Given the description of an element on the screen output the (x, y) to click on. 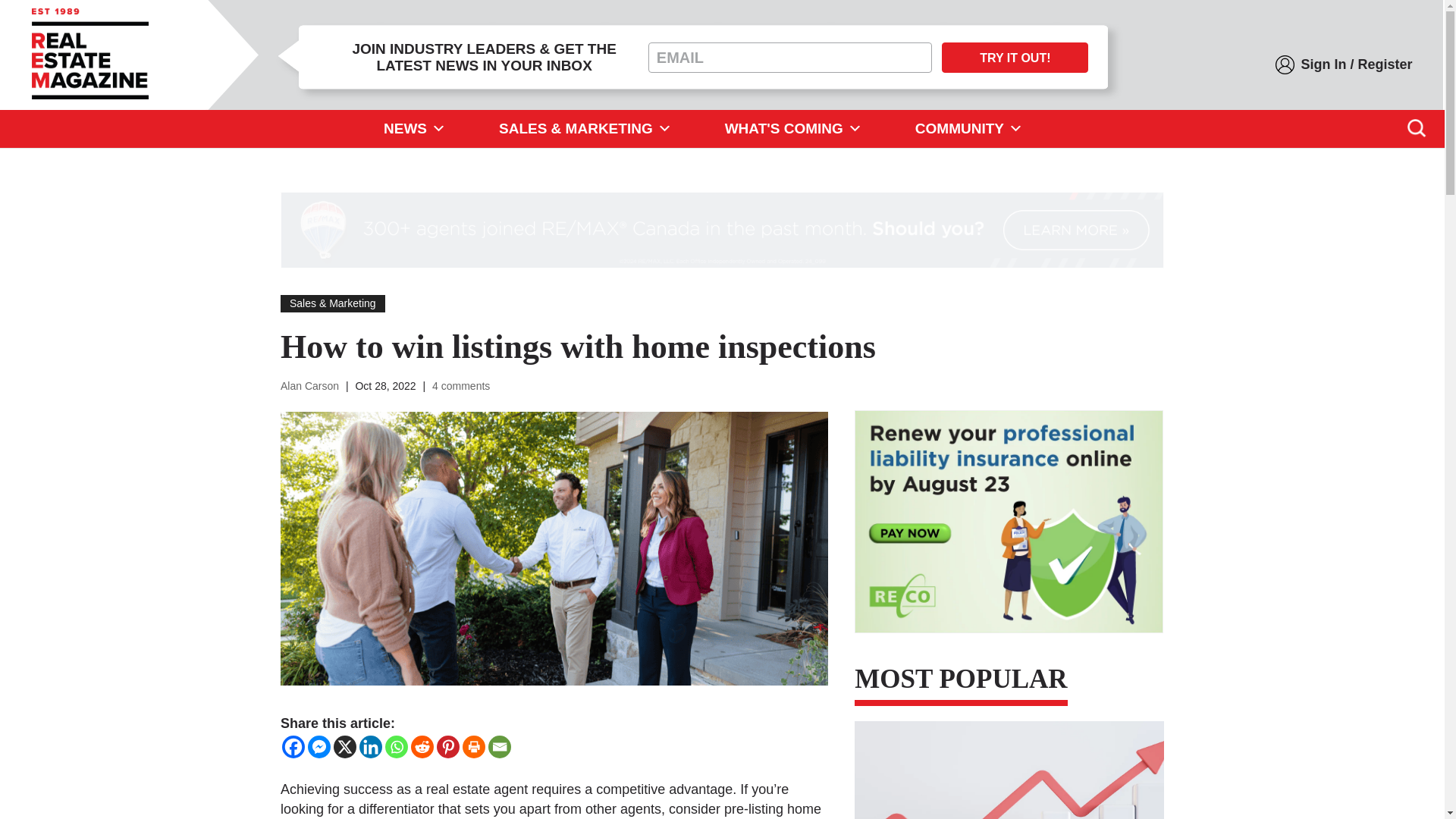
Sign In (1322, 64)
TRY IT OUT! (1014, 57)
Facebook (293, 746)
X (344, 746)
Reddit (421, 746)
Pinterest (448, 746)
Print (473, 746)
Register (1384, 64)
Whatsapp (396, 746)
Linkedin (370, 746)
NEWS (413, 128)
